Given the description of an element on the screen output the (x, y) to click on. 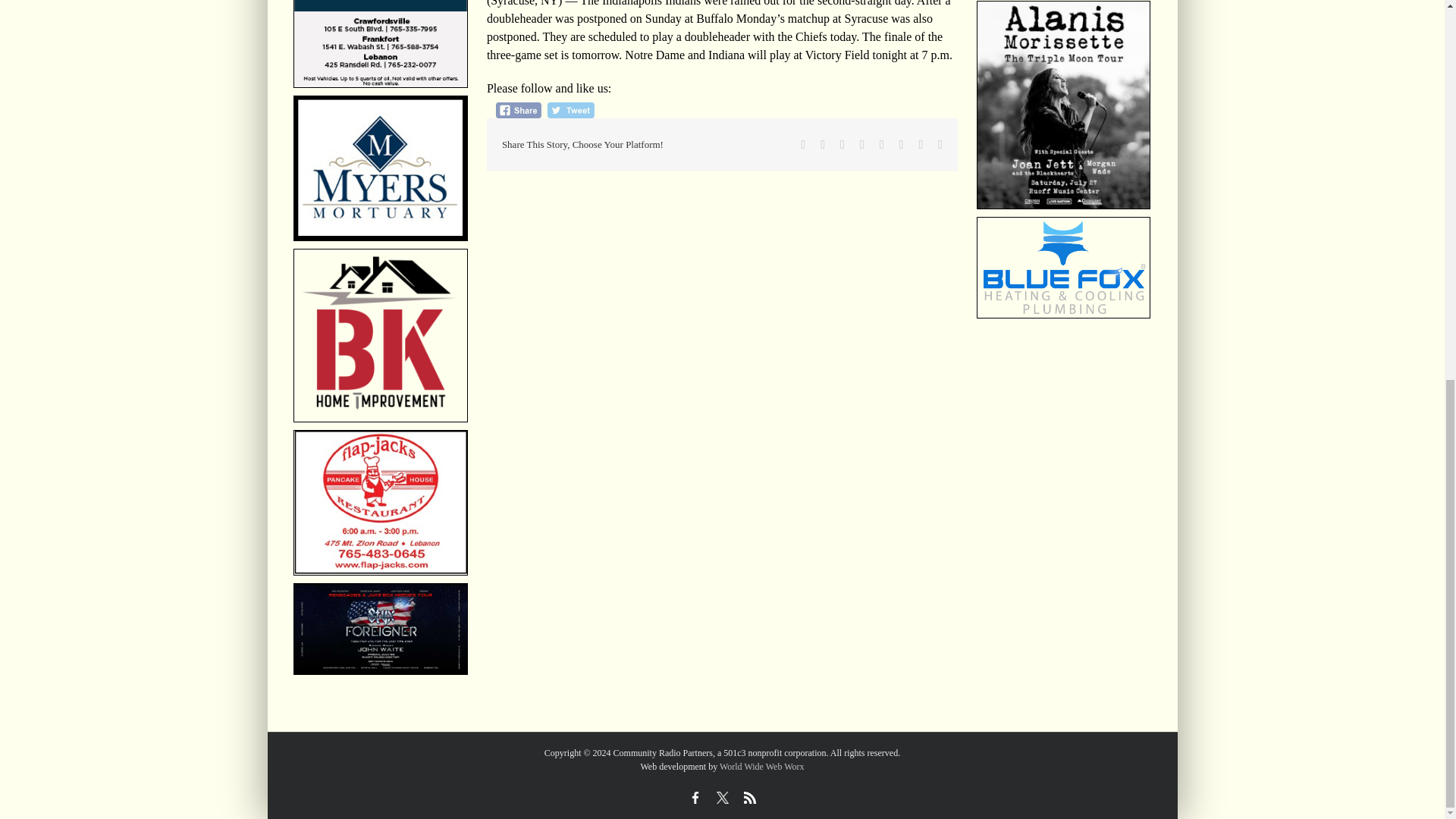
Tweet (570, 109)
Facebook Share (518, 109)
